Given the description of an element on the screen output the (x, y) to click on. 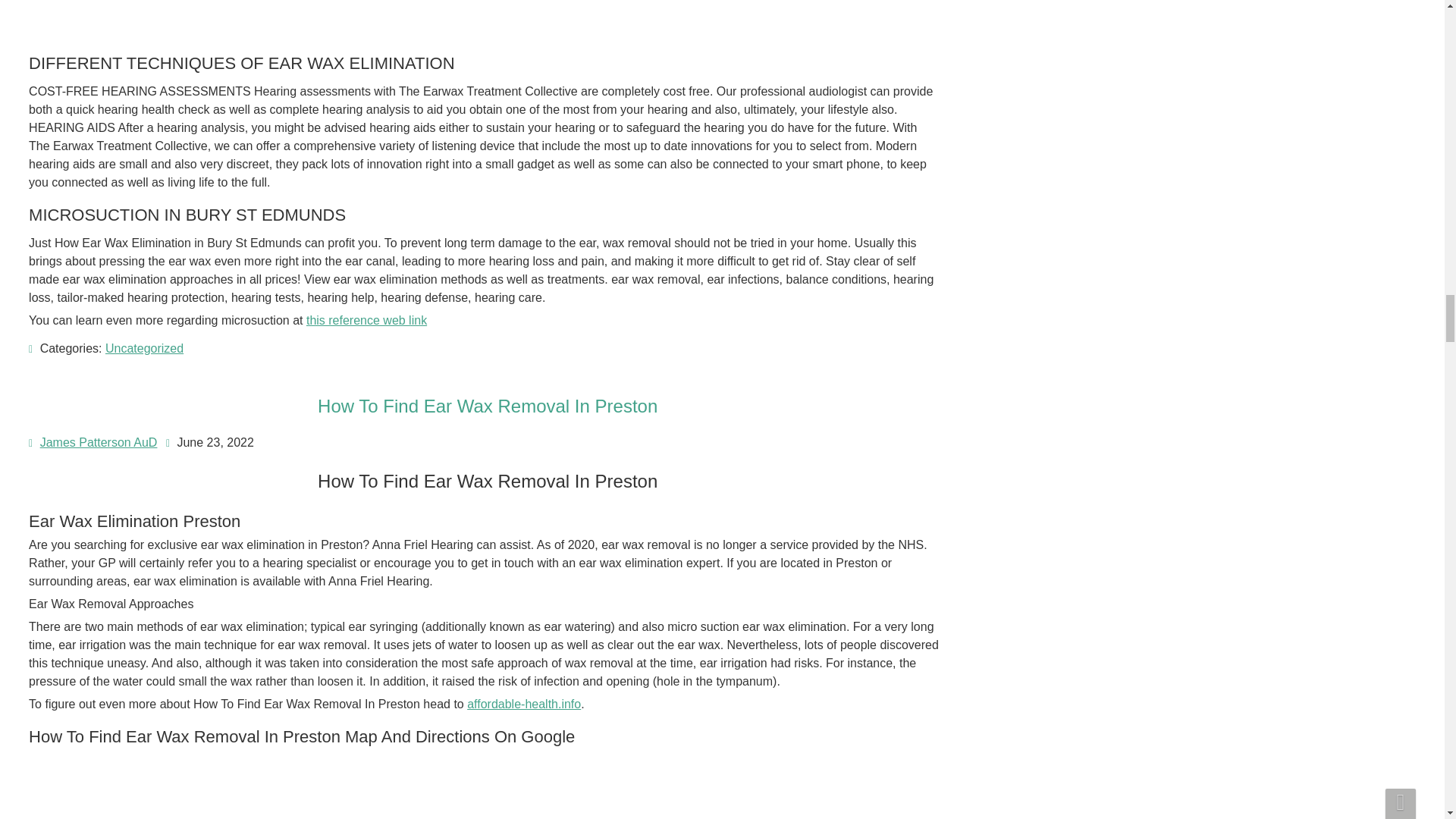
Posts by James Patterson AuD (98, 441)
James Patterson AuD (98, 441)
How To Find Ear Wax Removal In Preston (487, 405)
How To Find Ear Wax Removal In Preston (487, 405)
Uncategorized (143, 348)
How To Find Ear Wax Removal In Preston (180, 788)
microsuction bury st edmunds (180, 16)
this reference web link (365, 319)
affordable-health.info (523, 703)
